Given the description of an element on the screen output the (x, y) to click on. 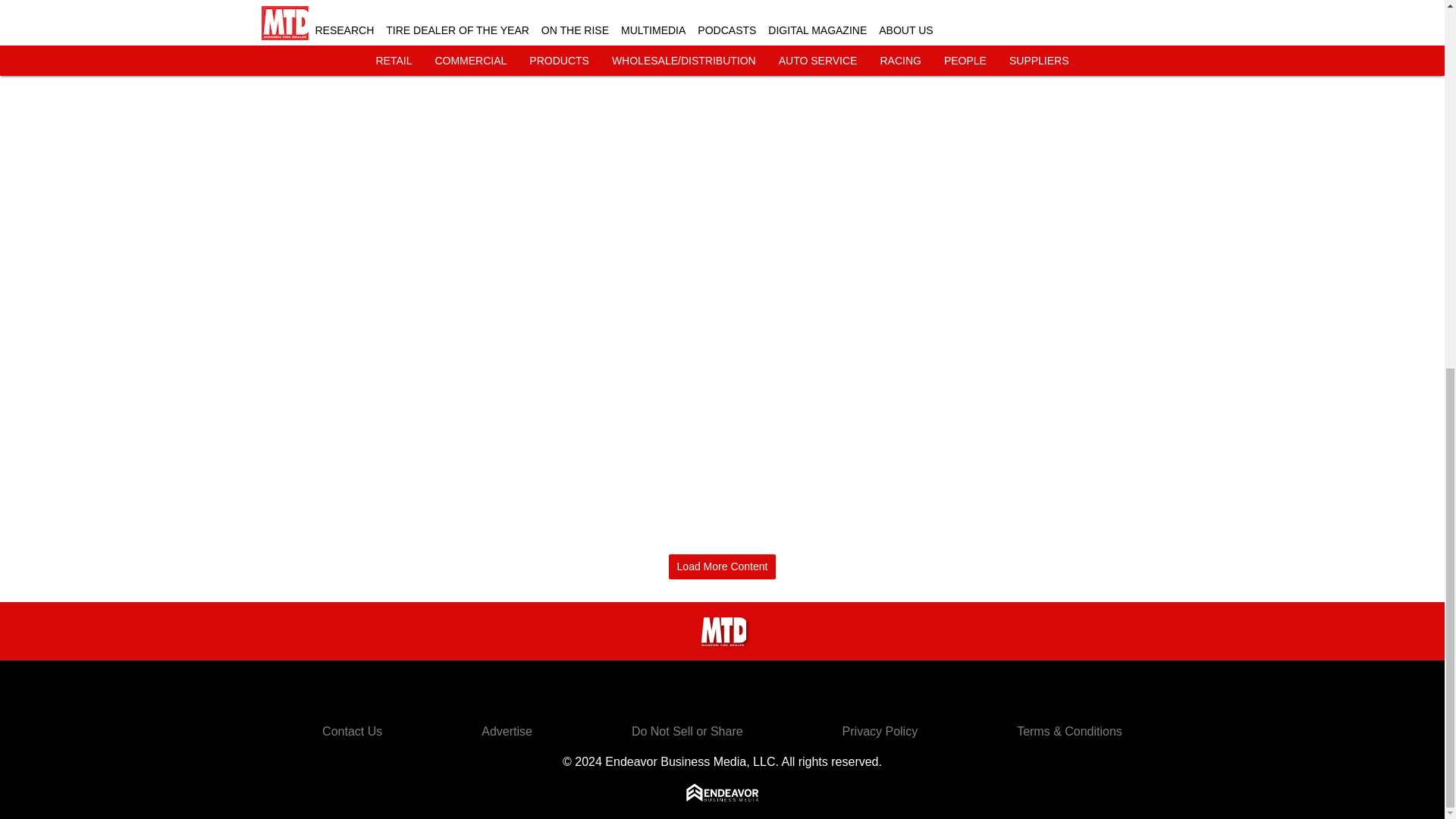
Load More Content (722, 566)
Russ Welsh to Lead Monro's Retail Strategy (1097, 13)
